Given the description of an element on the screen output the (x, y) to click on. 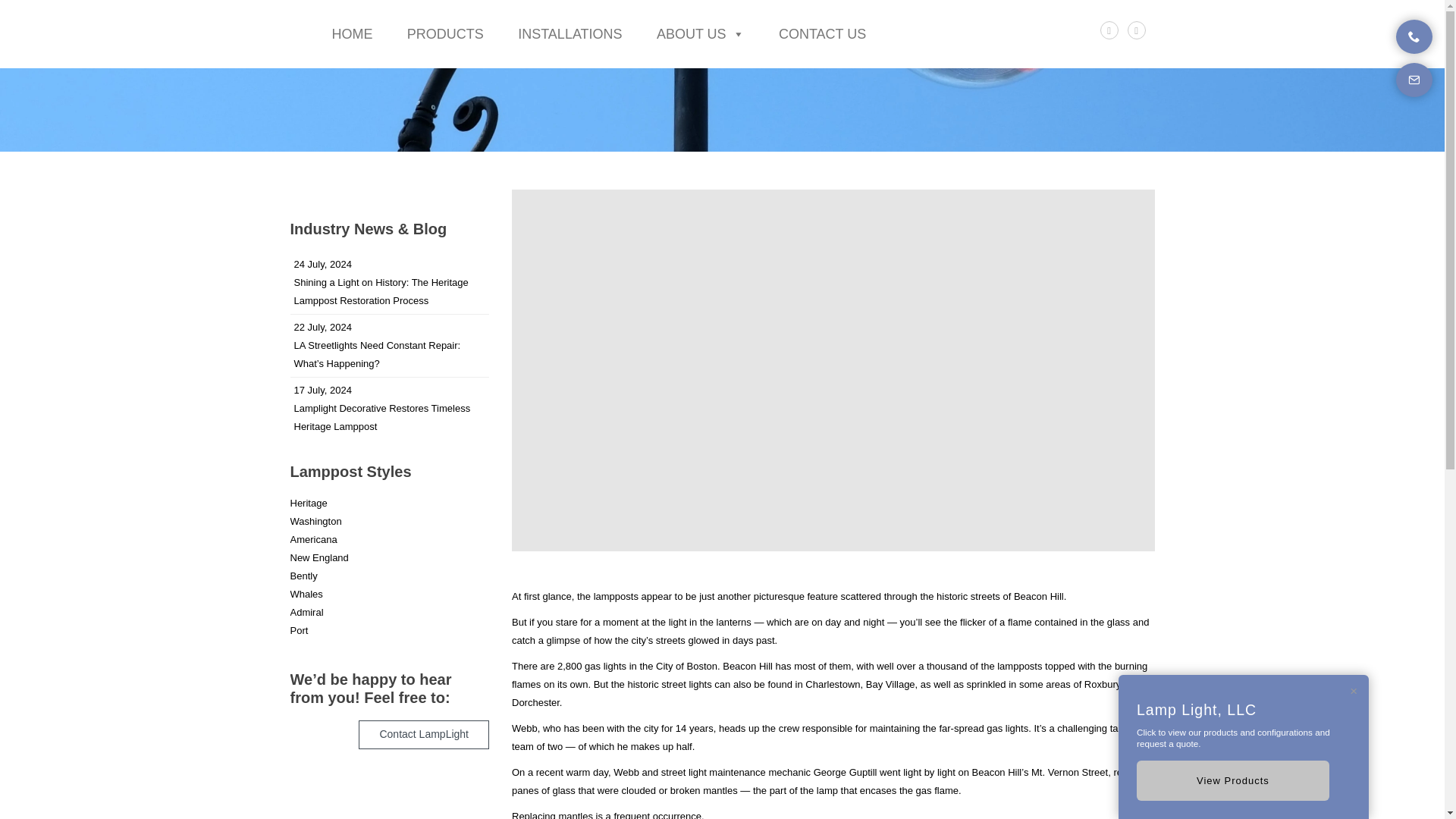
Admiral (306, 612)
PRODUCTS (445, 33)
INSTALLATIONS (569, 33)
Whales (305, 593)
Bently (303, 575)
ABOUT US (700, 33)
CONTACT US (822, 33)
New England (318, 557)
Washington (314, 521)
Contact LampLight (423, 734)
Heritage (307, 502)
Americana (312, 539)
View Products (1233, 780)
Lamplight Decorative Restores Timeless Heritage Lamppost (382, 417)
